Given the description of an element on the screen output the (x, y) to click on. 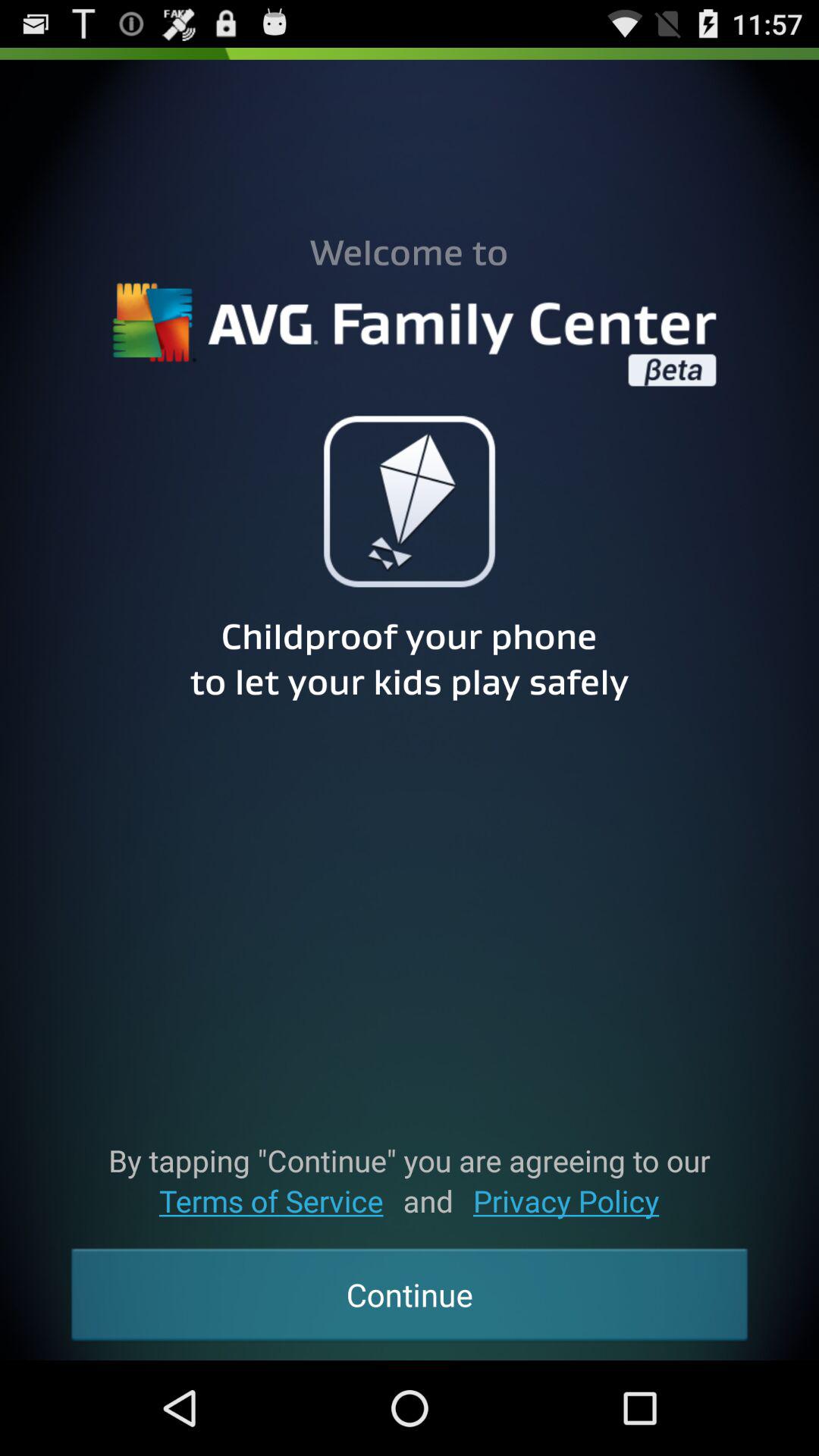
launch the app next to and icon (271, 1200)
